Given the description of an element on the screen output the (x, y) to click on. 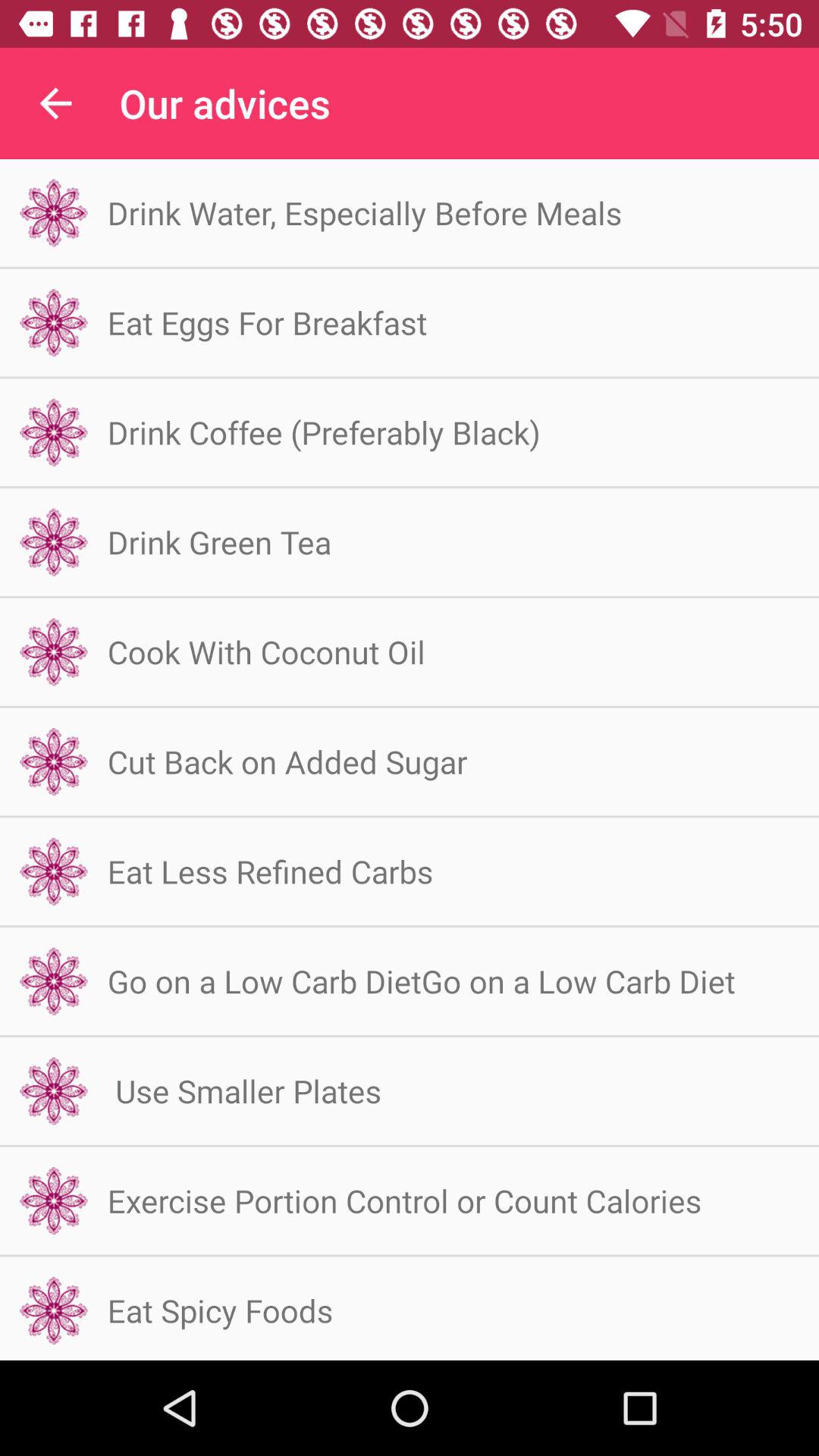
press the icon above the cook with coconut (219, 541)
